Given the description of an element on the screen output the (x, y) to click on. 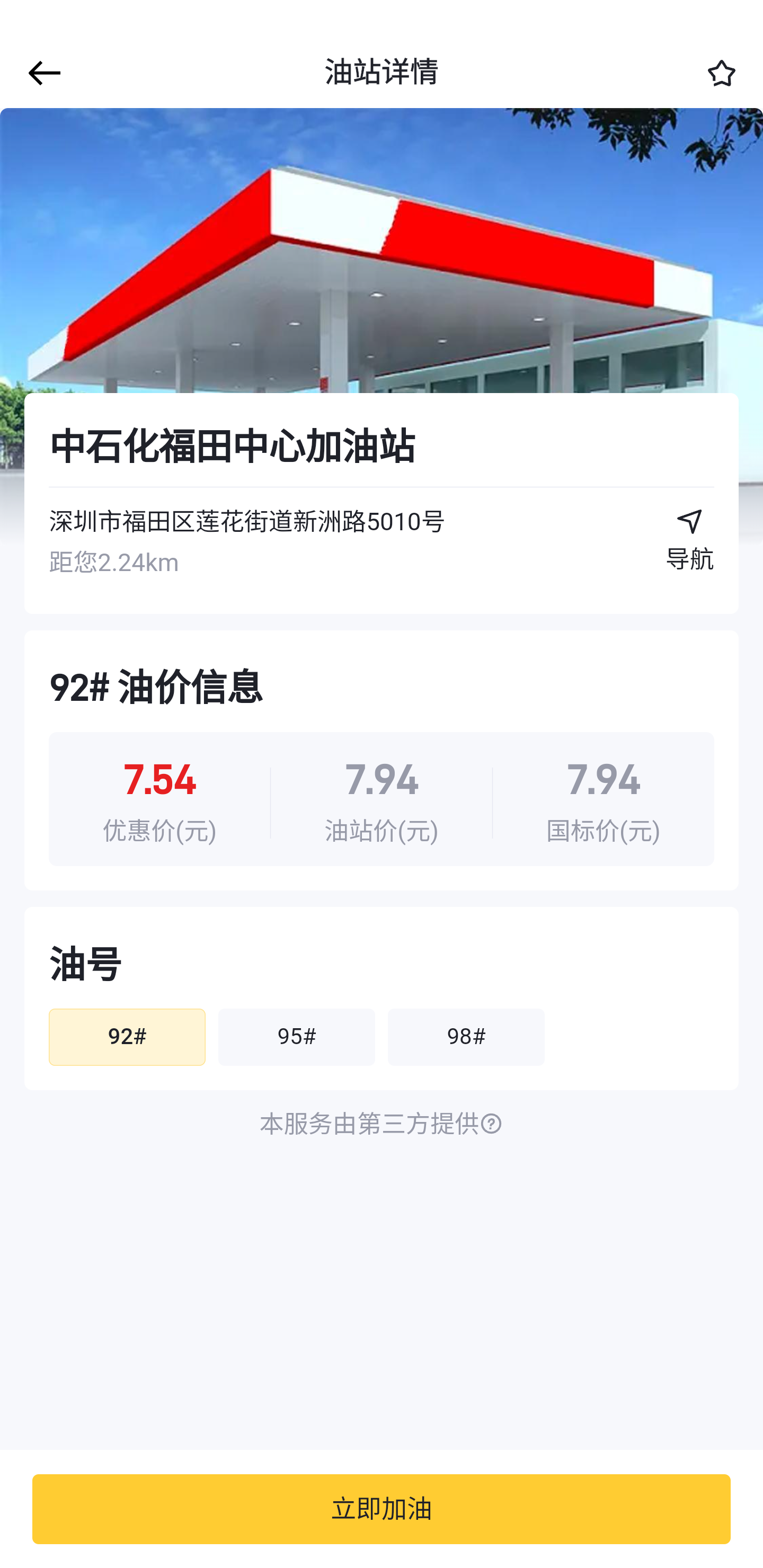
 (41, 72)
油站详情 (381, 72)
default.0da6835c (381, 327)
导航 (689, 547)
92#  (126, 1037)
95#  (296, 1037)
98#  (466, 1037)
本服务由第三方提供 (381, 1124)
立即加油 (381, 1508)
